Given the description of an element on the screen output the (x, y) to click on. 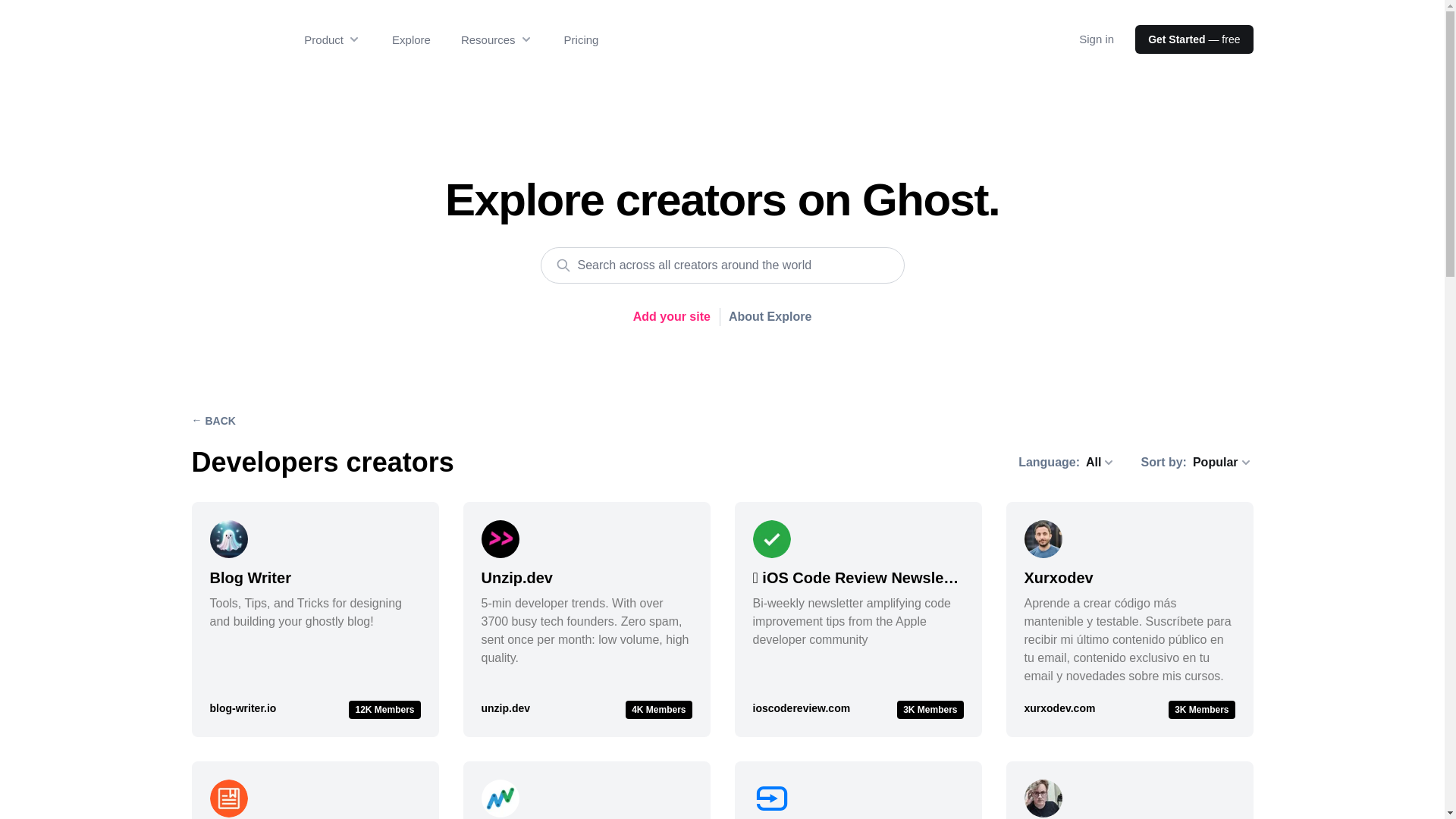
Pricing (581, 38)
Add your site (671, 316)
Explore (410, 38)
Product (332, 38)
Sign in (1095, 39)
About Explore (769, 316)
Resources (497, 38)
